Given the description of an element on the screen output the (x, y) to click on. 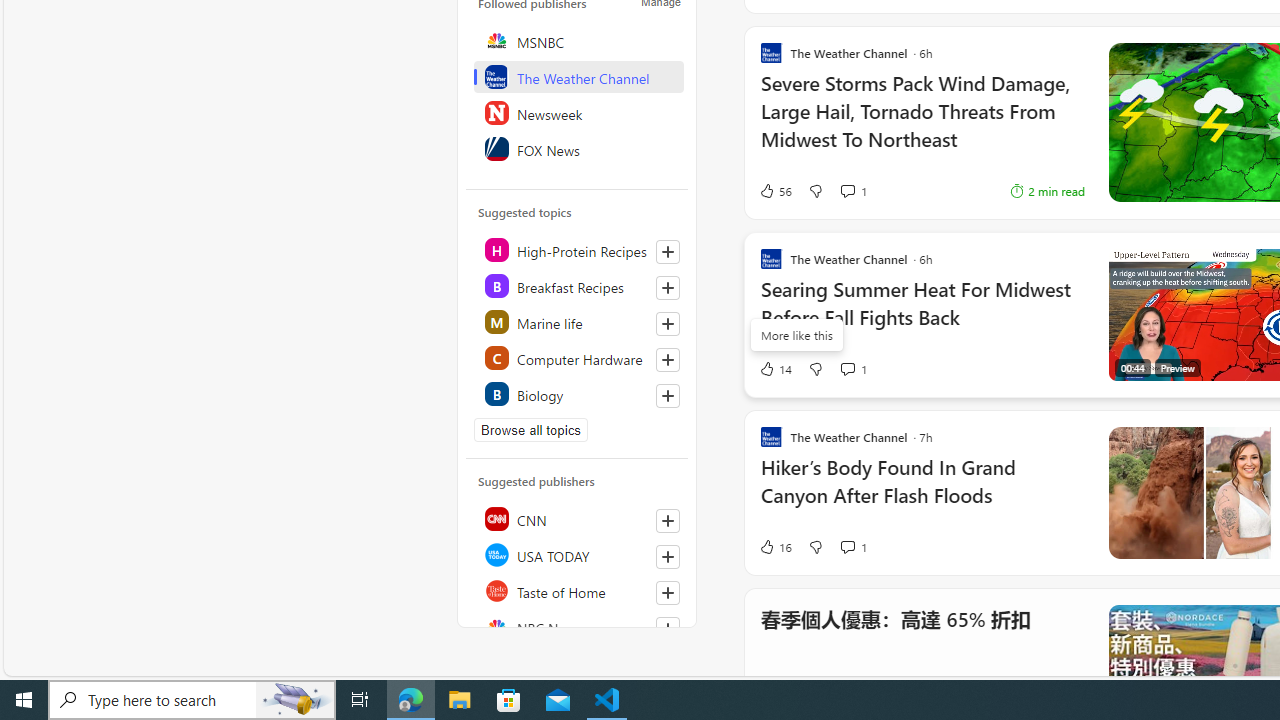
FOX News (578, 148)
Taste of Home (578, 590)
MSNBC (578, 40)
14 Like (775, 368)
Searing Summer Heat For Midwest Before Fall Fights Back (922, 313)
